Given the description of an element on the screen output the (x, y) to click on. 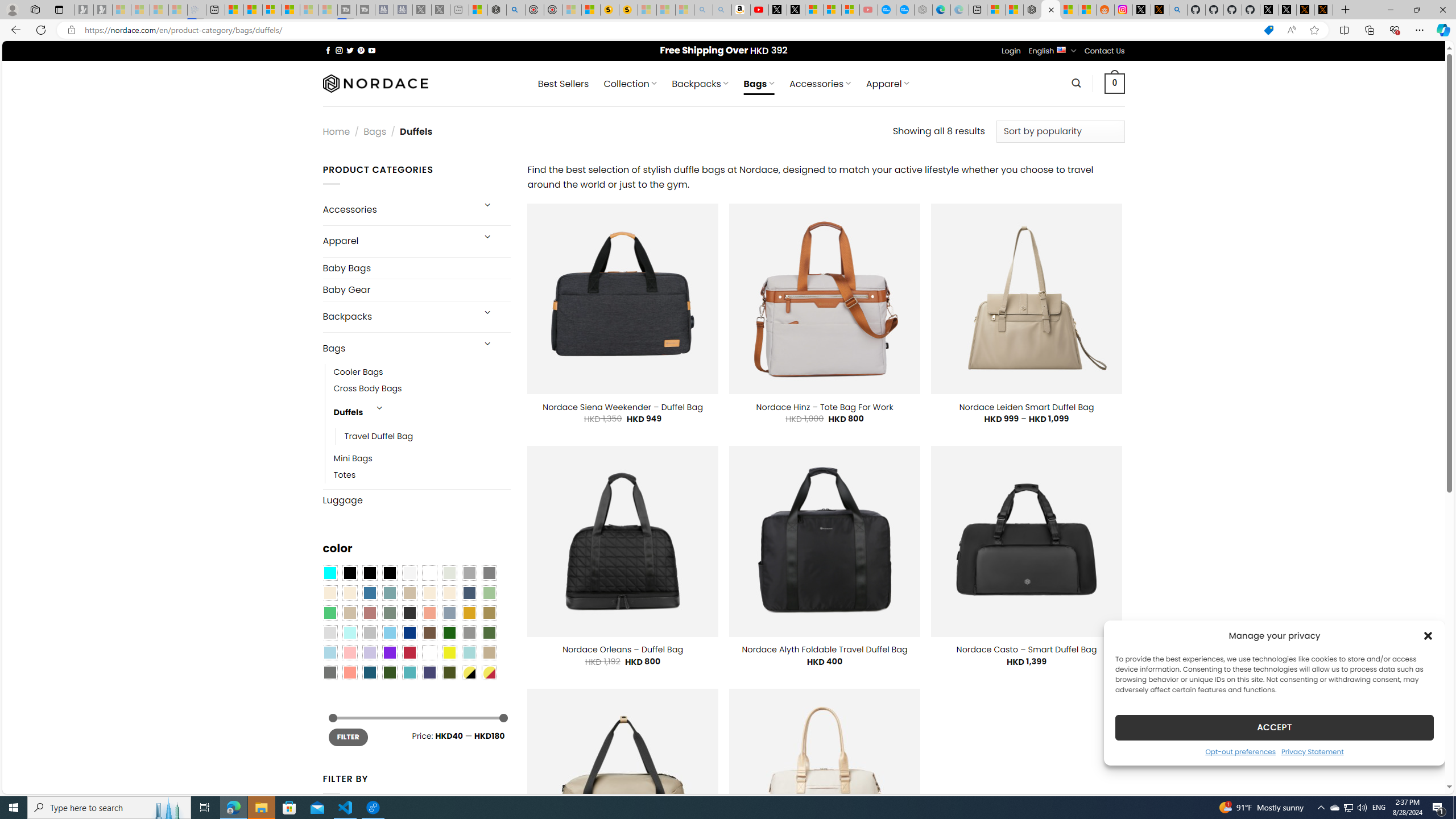
Mini Bags (352, 458)
Dark Green (449, 632)
github - Search (1178, 9)
Red (408, 652)
Gold (468, 613)
 0  (1115, 83)
Accessories (397, 209)
Login (1010, 50)
Privacy Statement (1312, 750)
